Given the description of an element on the screen output the (x, y) to click on. 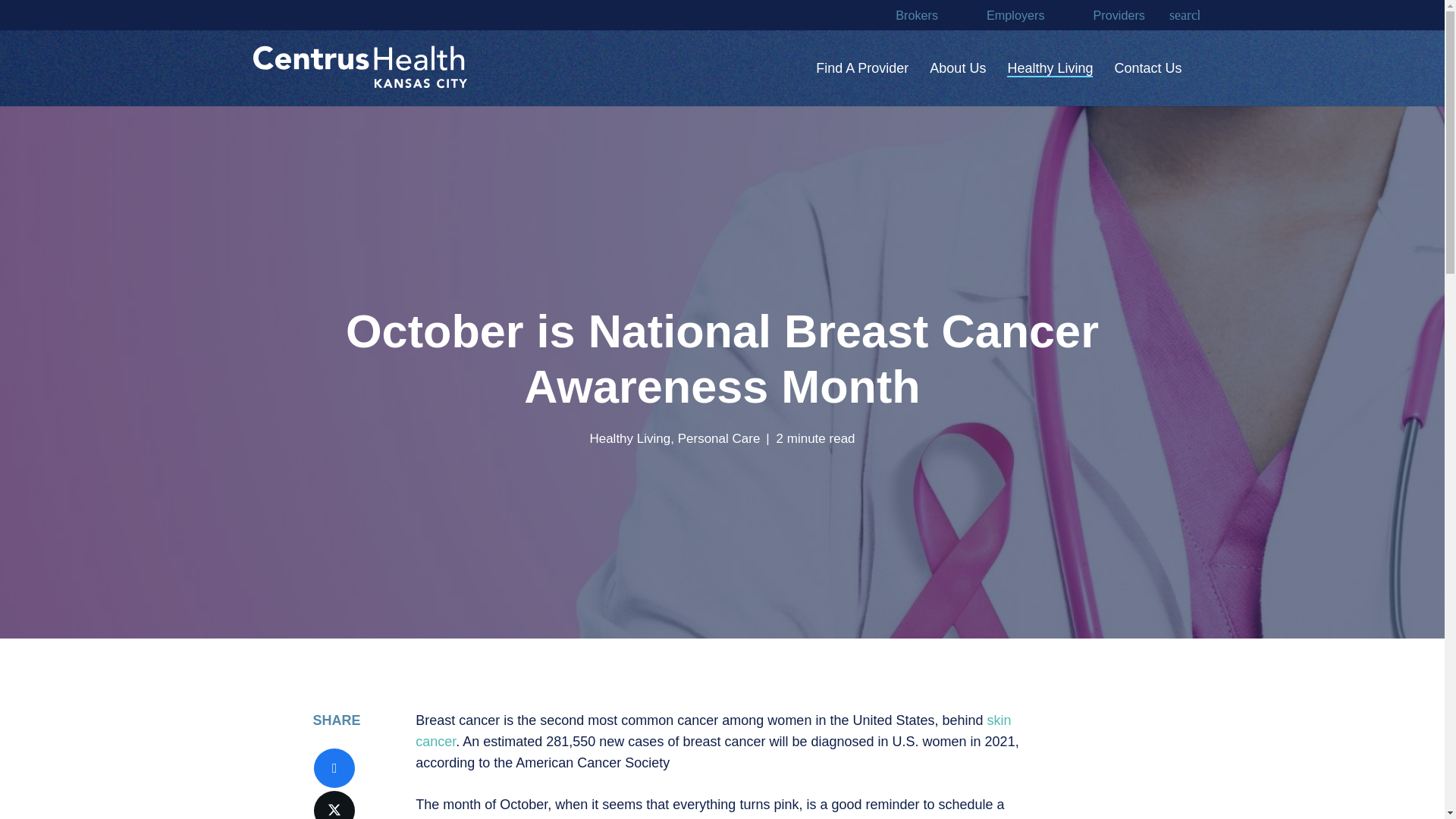
Healthy Living (629, 438)
Employers (1015, 15)
Contact Us (1147, 68)
Share this (334, 767)
About Us (956, 68)
Find A Provider (861, 68)
Personal Care (719, 438)
Brokers (916, 15)
skin cancer (712, 730)
Providers (1118, 15)
Tweet this (334, 805)
Healthy Living (1049, 68)
search (1184, 17)
